Given the description of an element on the screen output the (x, y) to click on. 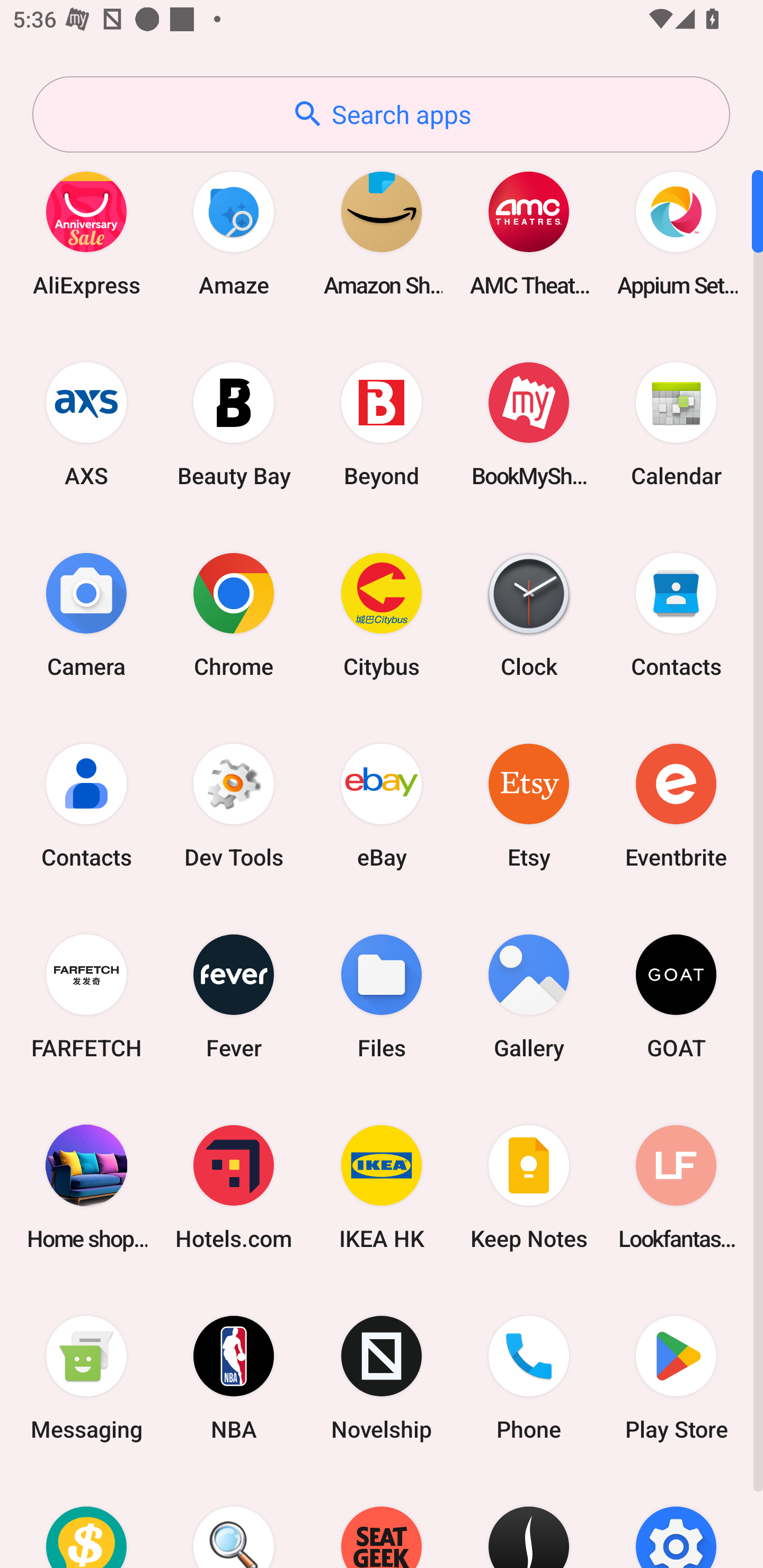
  Search apps (381, 114)
AliExpress (86, 233)
Amaze (233, 233)
Amazon Shopping (381, 233)
AMC Theatres (528, 233)
Appium Settings (676, 233)
AXS (86, 424)
Beauty Bay (233, 424)
Beyond (381, 424)
BookMyShow (528, 424)
Calendar (676, 424)
Camera (86, 614)
Chrome (233, 614)
Citybus (381, 614)
Clock (528, 614)
Contacts (676, 614)
Contacts (86, 805)
Dev Tools (233, 805)
eBay (381, 805)
Etsy (528, 805)
Eventbrite (676, 805)
FARFETCH (86, 996)
Fever (233, 996)
Files (381, 996)
Gallery (528, 996)
GOAT (676, 996)
Home shopping (86, 1186)
Hotels.com (233, 1186)
IKEA HK (381, 1186)
Keep Notes (528, 1186)
Lookfantastic (676, 1186)
Messaging (86, 1377)
NBA (233, 1377)
Novelship (381, 1377)
Phone (528, 1377)
Play Store (676, 1377)
Price (86, 1520)
Search (233, 1520)
SeatGeek (381, 1520)
Sephora (528, 1520)
Settings (676, 1520)
